Given the description of an element on the screen output the (x, y) to click on. 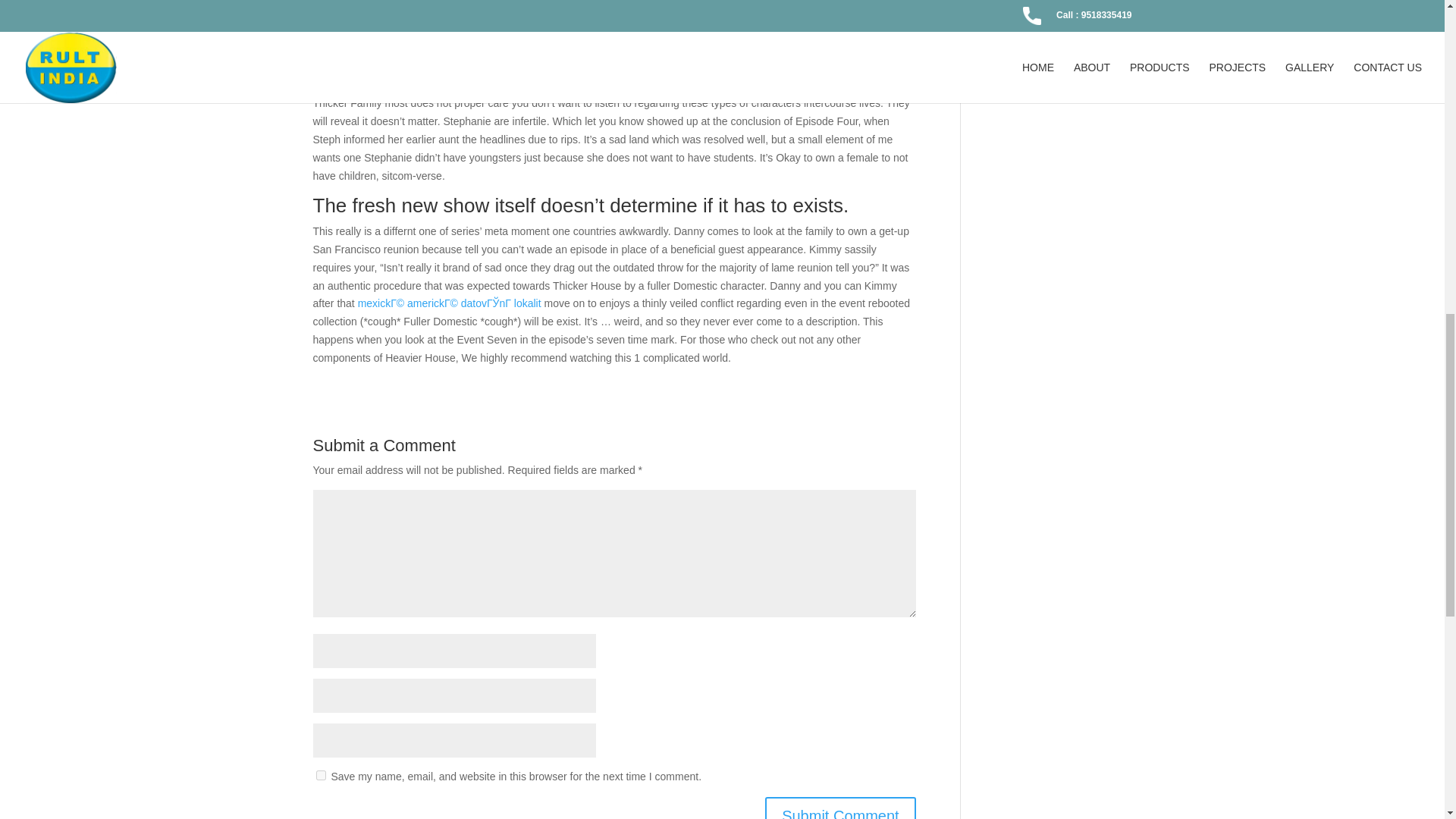
yes (319, 775)
Submit Comment (840, 807)
Submit Comment (840, 807)
